Given the description of an element on the screen output the (x, y) to click on. 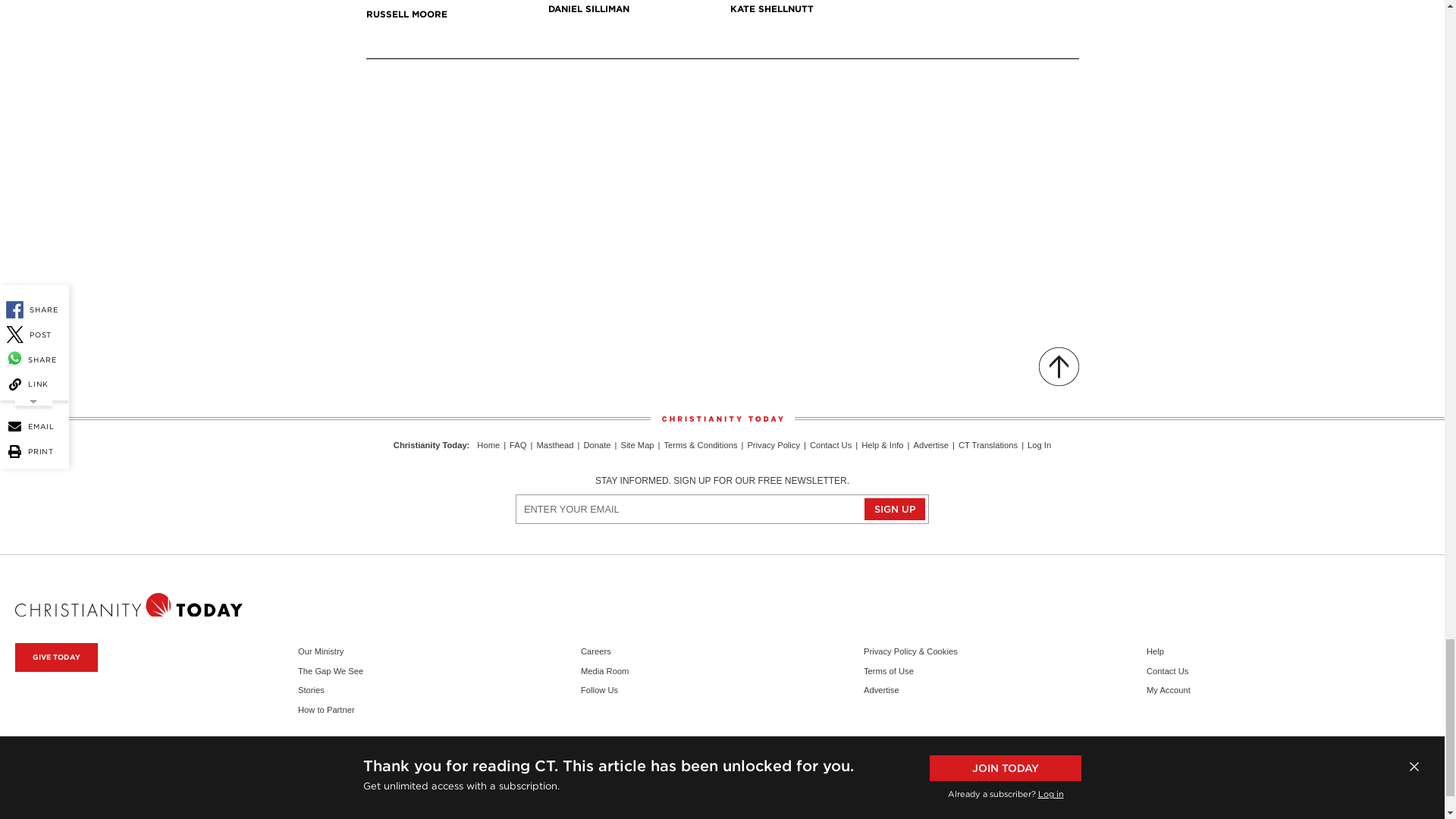
Sign Up (894, 508)
